Given the description of an element on the screen output the (x, y) to click on. 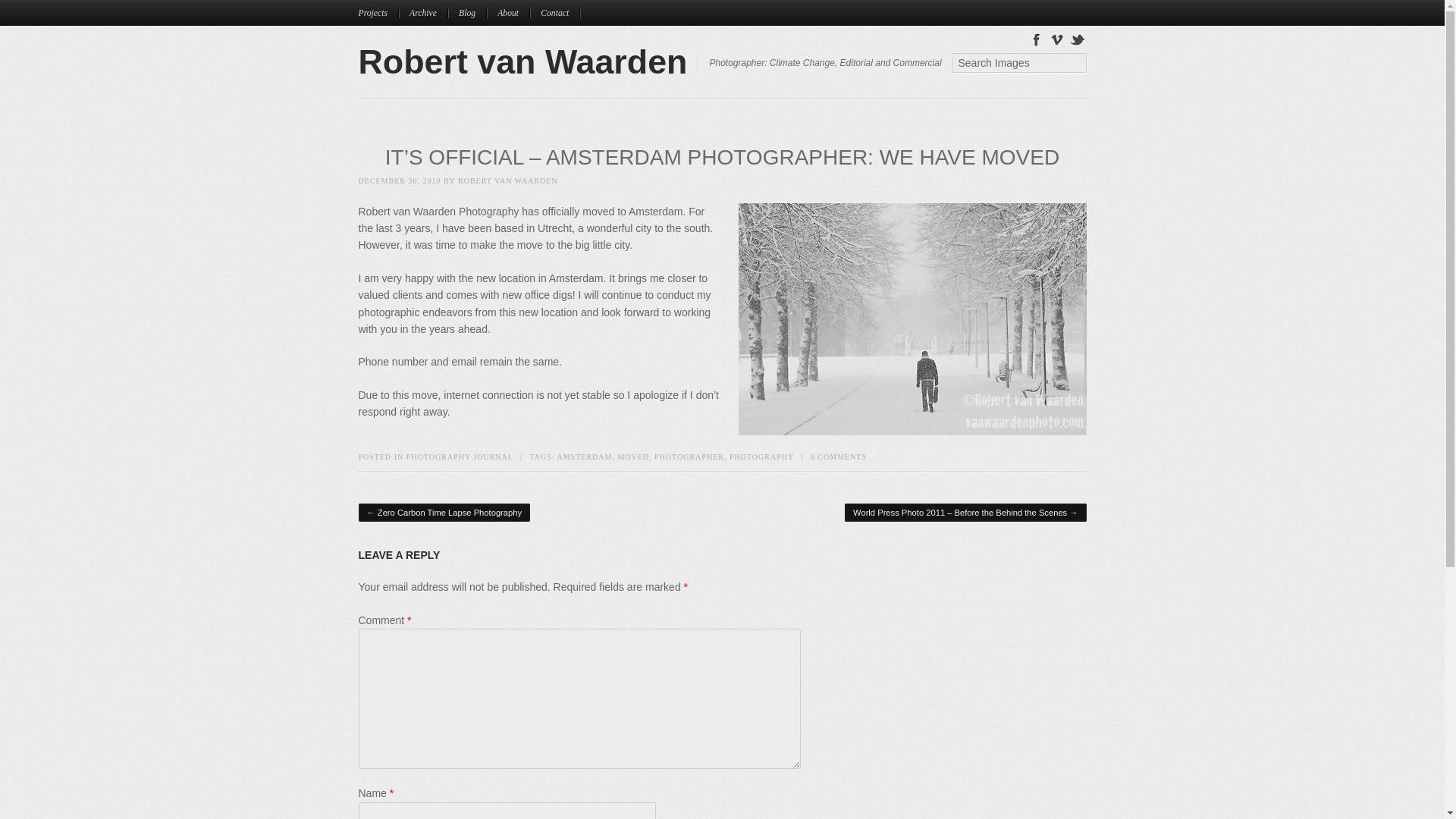
Skip to content (395, 8)
Archive (428, 13)
VIMEO (1056, 38)
Robert van Waarden (522, 61)
About (513, 13)
Robert van Waarden (522, 61)
4:56 pm (399, 180)
Skip to content (395, 8)
Search Images (1018, 62)
Contact (559, 13)
Blog (472, 13)
View all posts by Robert van Waarden (507, 180)
FACEBOOK (1036, 38)
Projects (378, 13)
